Given the description of an element on the screen output the (x, y) to click on. 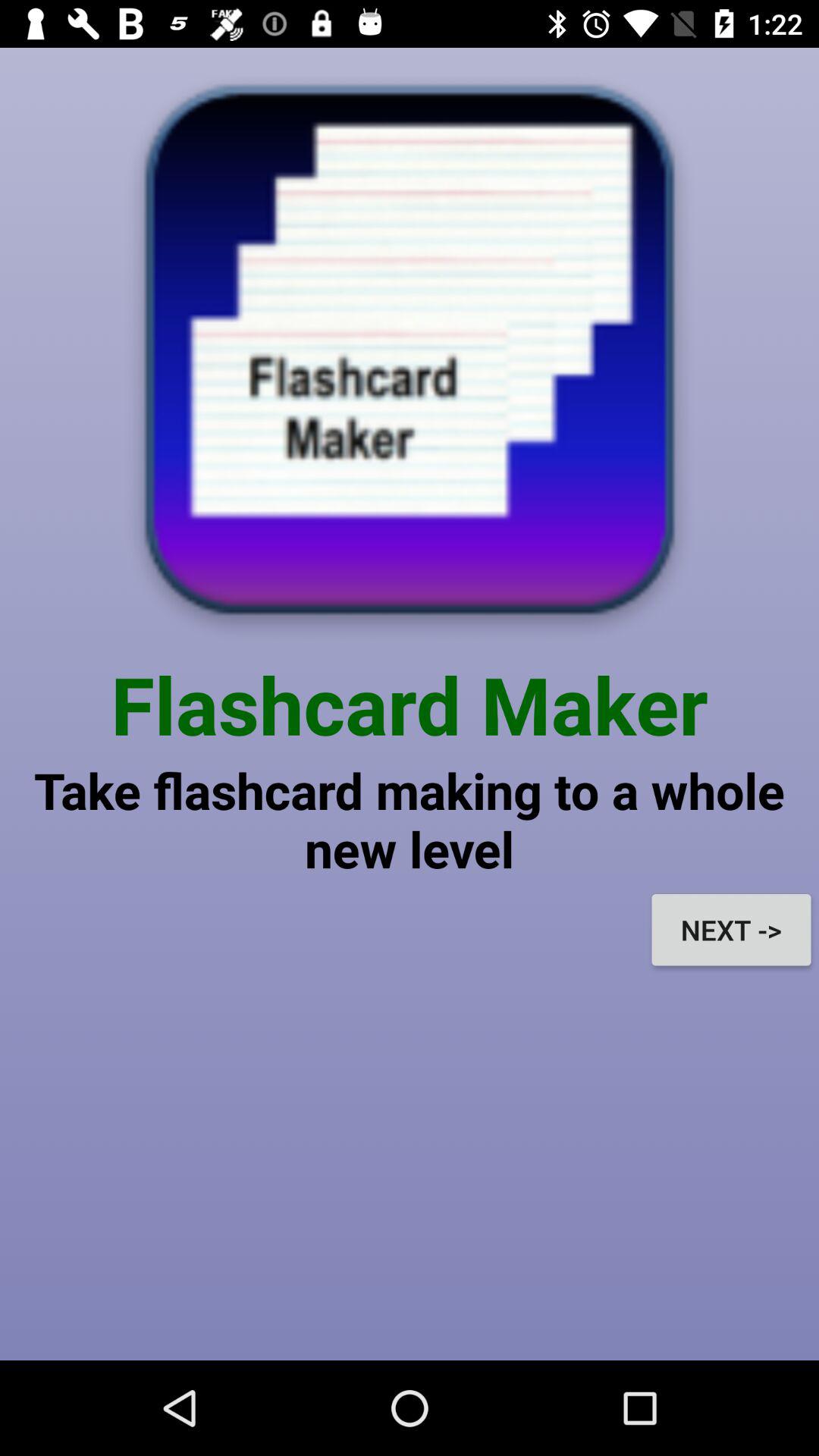
launch app below take flashcard making item (731, 929)
